Given the description of an element on the screen output the (x, y) to click on. 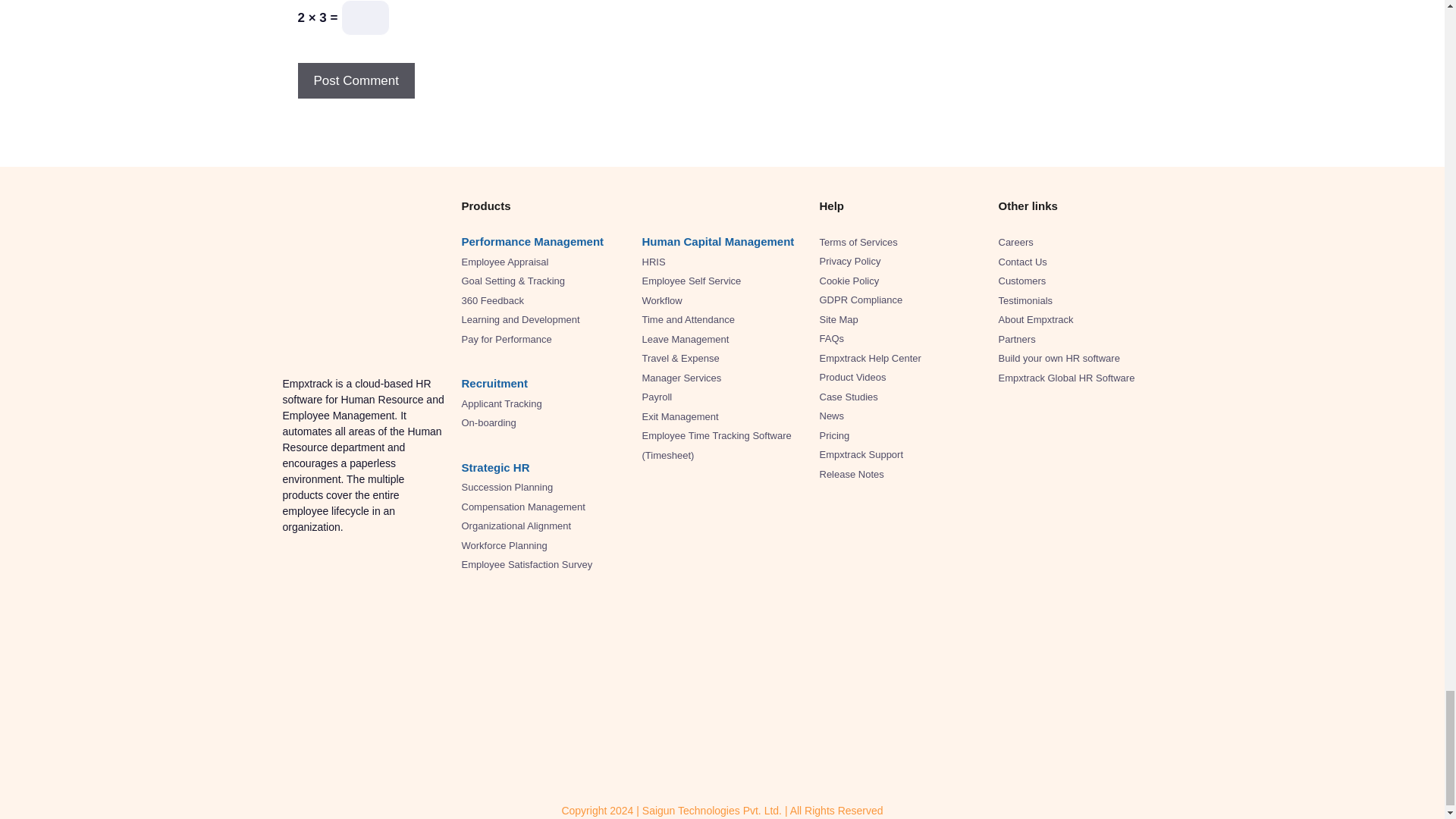
Empxtrack Strategic HR Solutions (495, 467)
Empxtrack performance management solution (532, 241)
Empxtrack Talent management solutions (494, 382)
Empxtrack Appraisal software (504, 261)
Post Comment (355, 81)
Empxtrack succession planning software (507, 487)
Empxtrack goal setting and tracking software (512, 280)
Empxtrack on boarding software (488, 422)
Empxtrac 360 feedback software (491, 300)
